Given the description of an element on the screen output the (x, y) to click on. 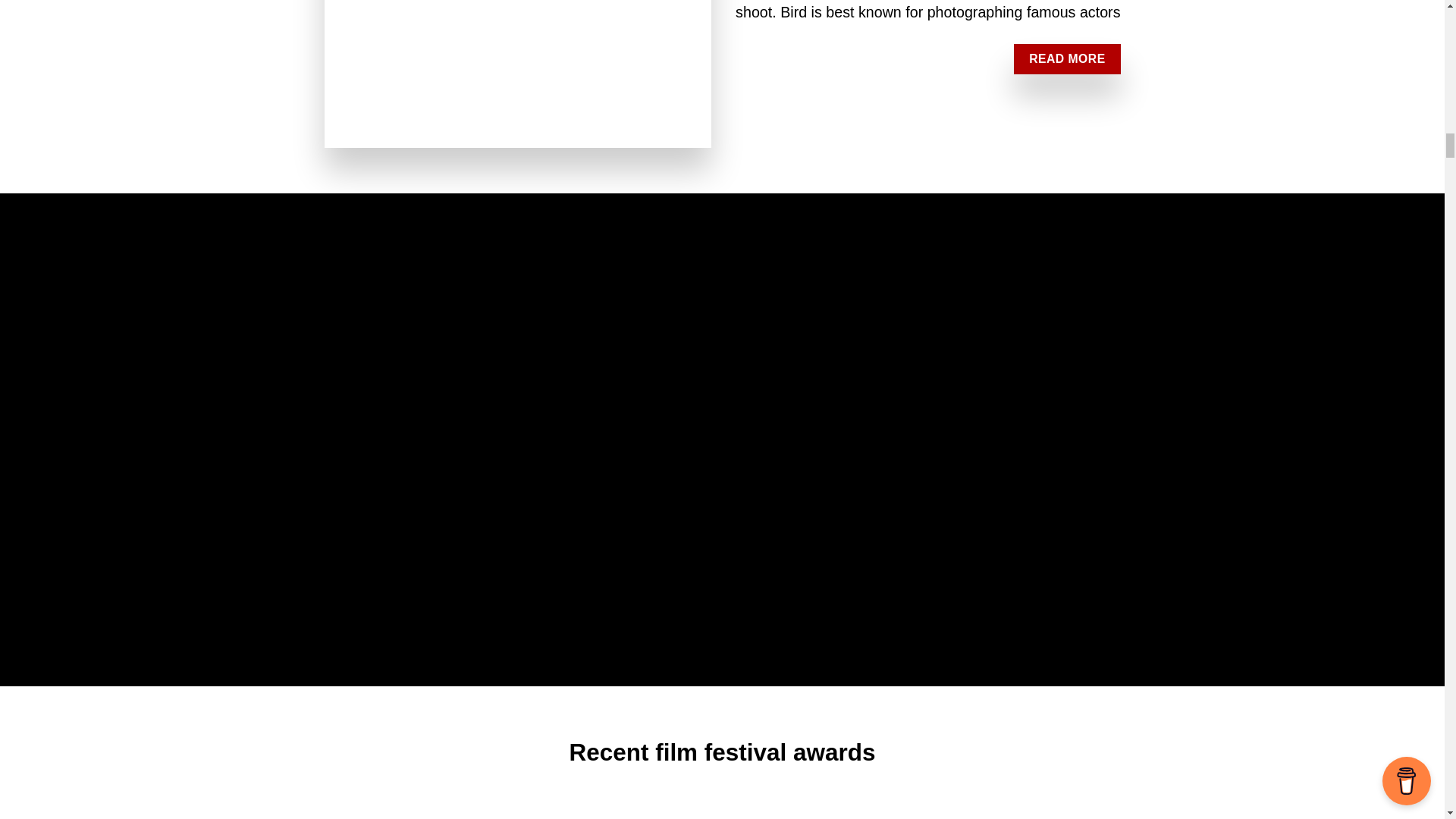
Home (517, 74)
READ MORE (1066, 59)
